Given the description of an element on the screen output the (x, y) to click on. 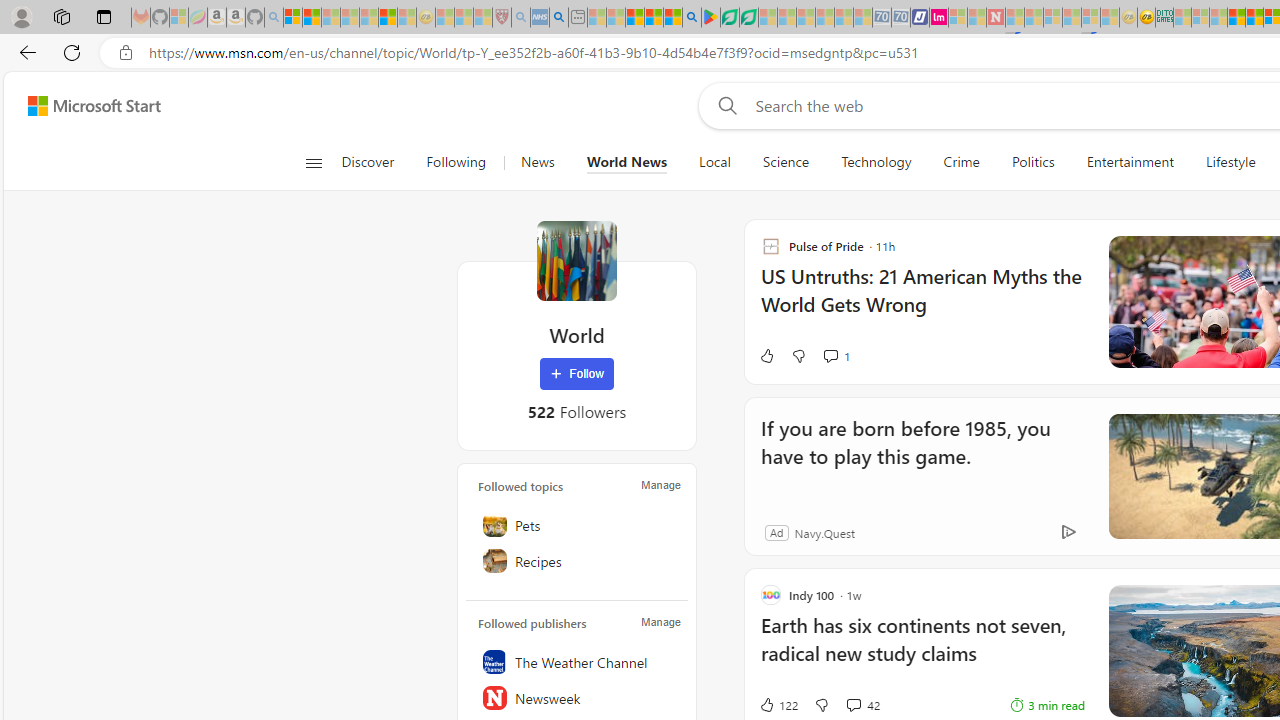
Manage (660, 621)
Local (714, 162)
Class: button-glyph (313, 162)
14 Common Myths Debunked By Scientific Facts - Sleeping (1034, 17)
Newsweek (577, 697)
Follow (577, 373)
Cheap Hotels - Save70.com - Sleeping (901, 17)
Web search (724, 105)
